Given the description of an element on the screen output the (x, y) to click on. 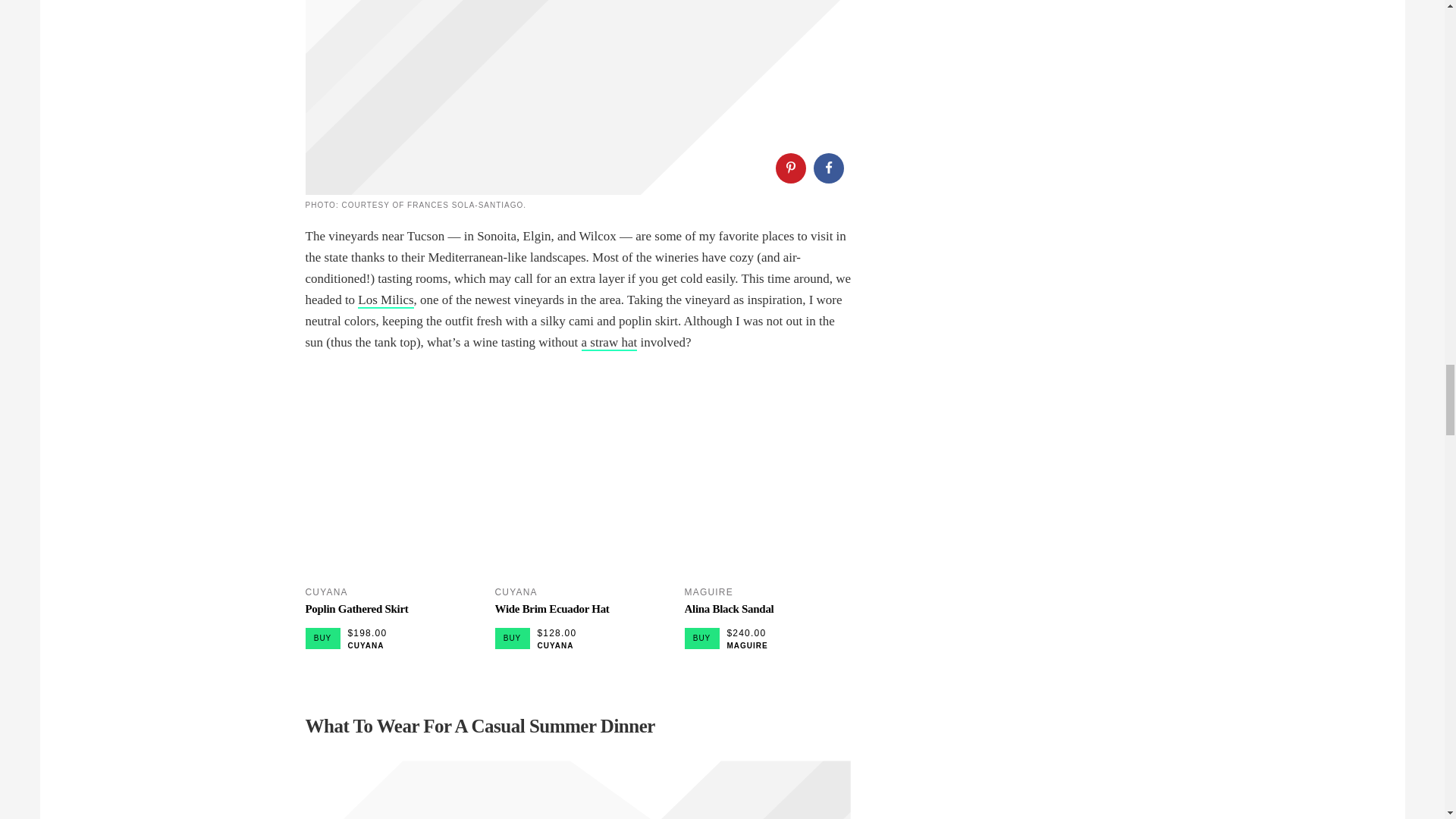
Share on Pinterest (789, 168)
